Given the description of an element on the screen output the (x, y) to click on. 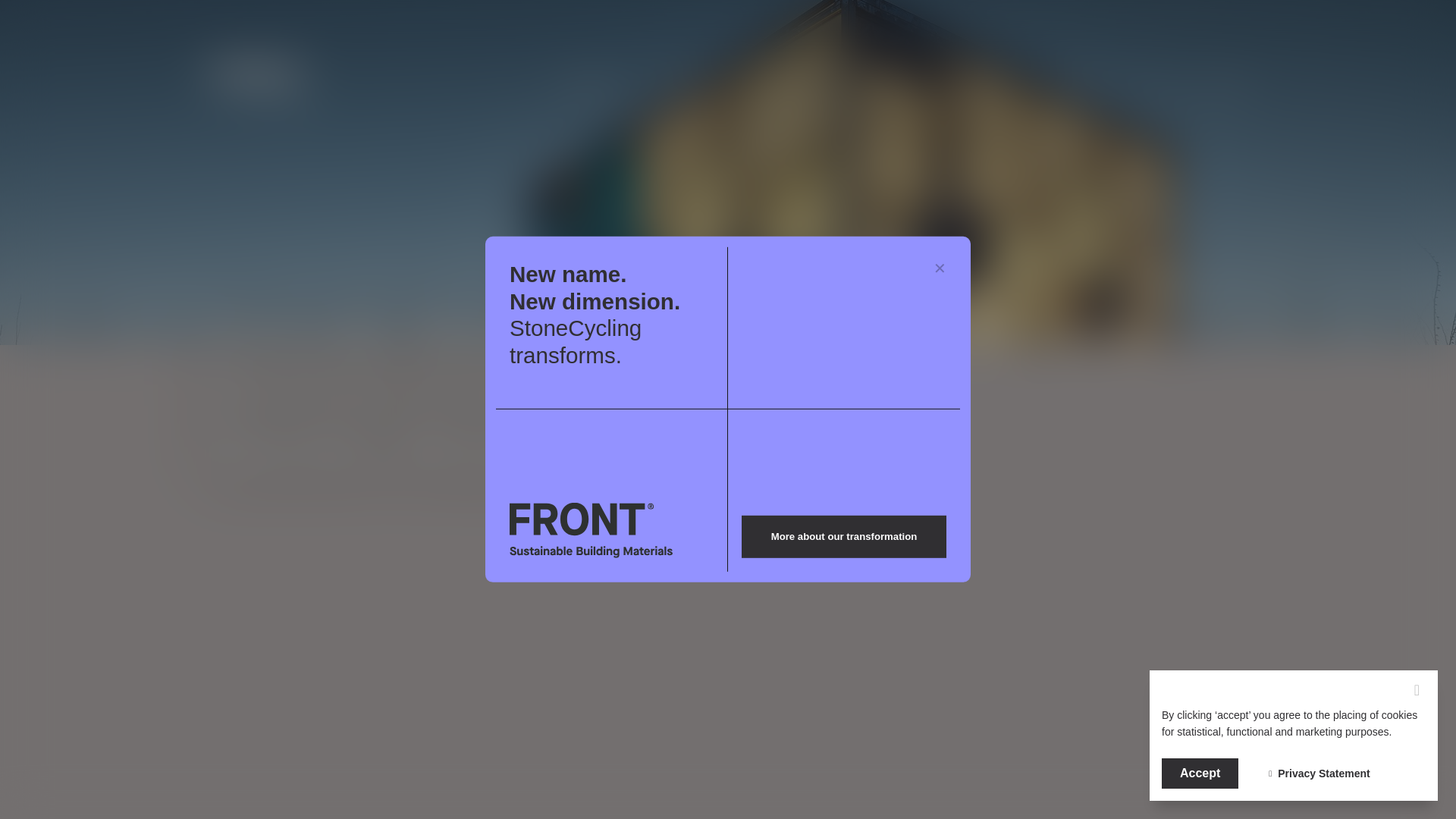
Contact (1077, 84)
Projects (692, 84)
News (892, 84)
Go to StoneCycling home (286, 79)
Events (981, 84)
